Given the description of an element on the screen output the (x, y) to click on. 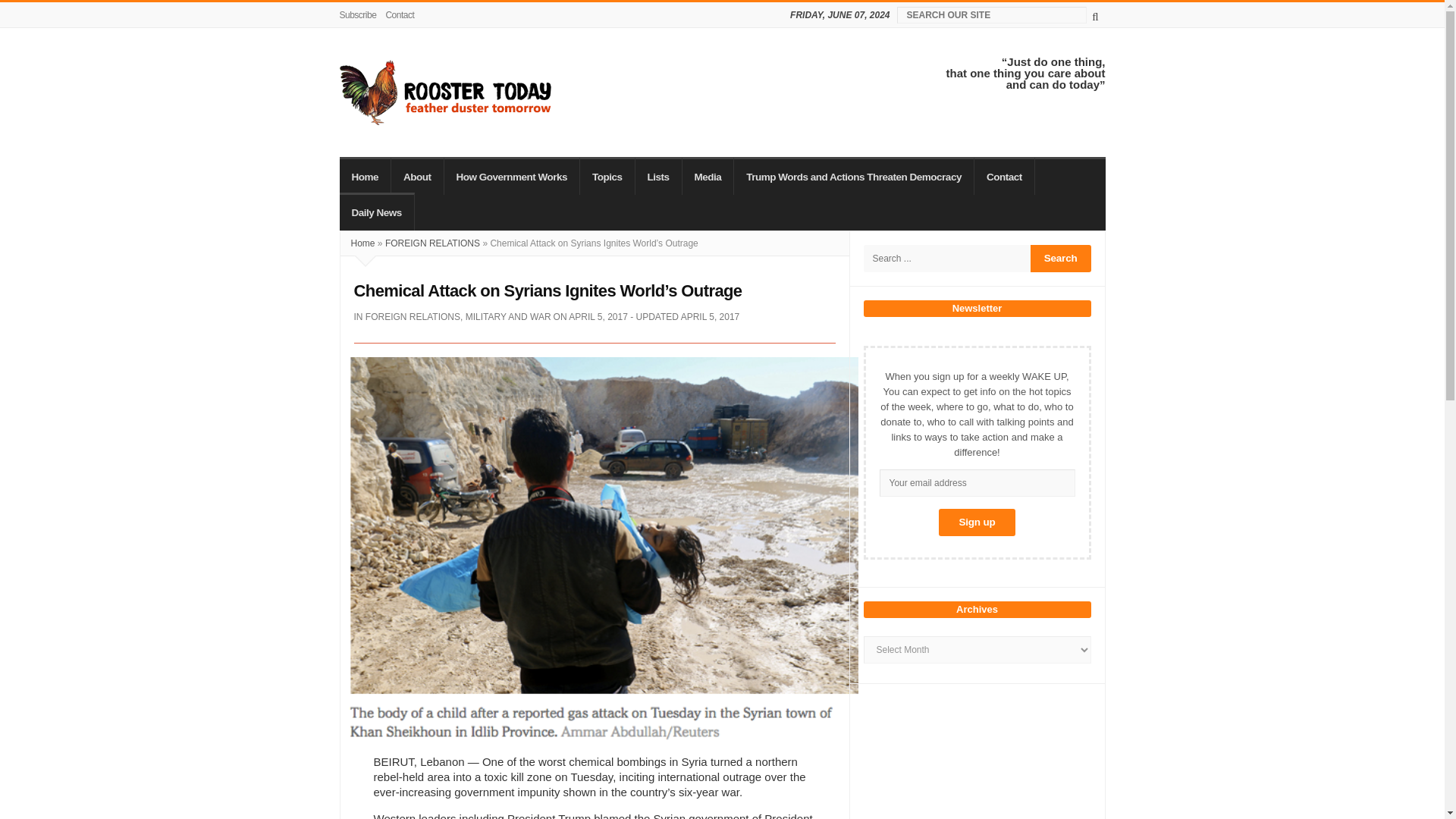
Search (1060, 257)
Sign up (976, 522)
Search for: (946, 257)
Subscribe (360, 14)
Home (365, 175)
Contact (399, 14)
How Government Works (512, 175)
About (417, 175)
Rooster Today (445, 92)
Topics (606, 175)
